Given the description of an element on the screen output the (x, y) to click on. 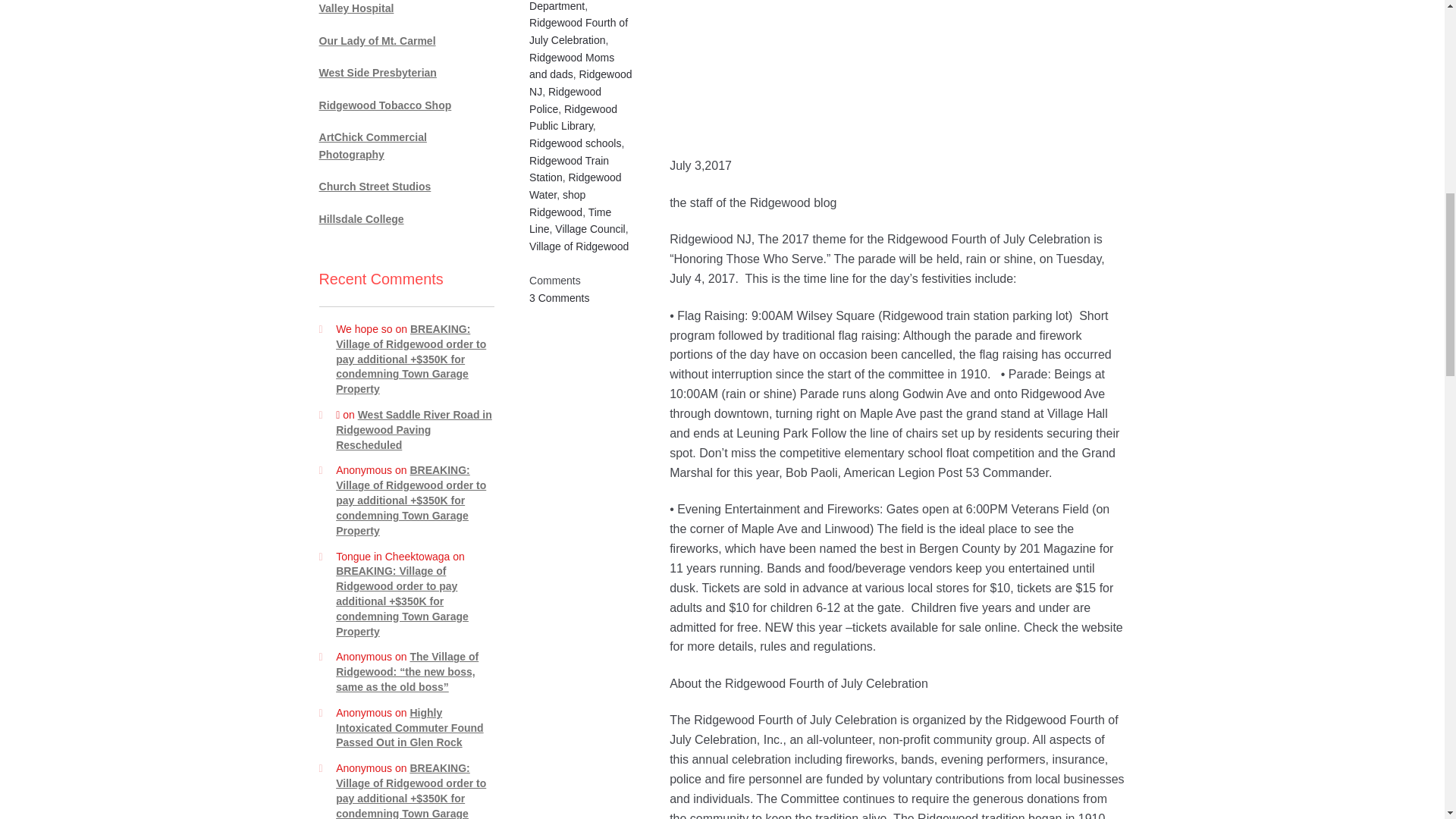
Village of Ridgewood (578, 246)
Ridgewood Fourth of July Celebration (578, 30)
Time Line (570, 220)
3 Comments (559, 297)
shop Ridgewood (557, 203)
Ridgewood Public Library (573, 117)
Village Council (589, 228)
Ridgewood Train Station (568, 169)
Ridgewood Water (575, 185)
Ridgewood NJ (580, 82)
